Given the description of an element on the screen output the (x, y) to click on. 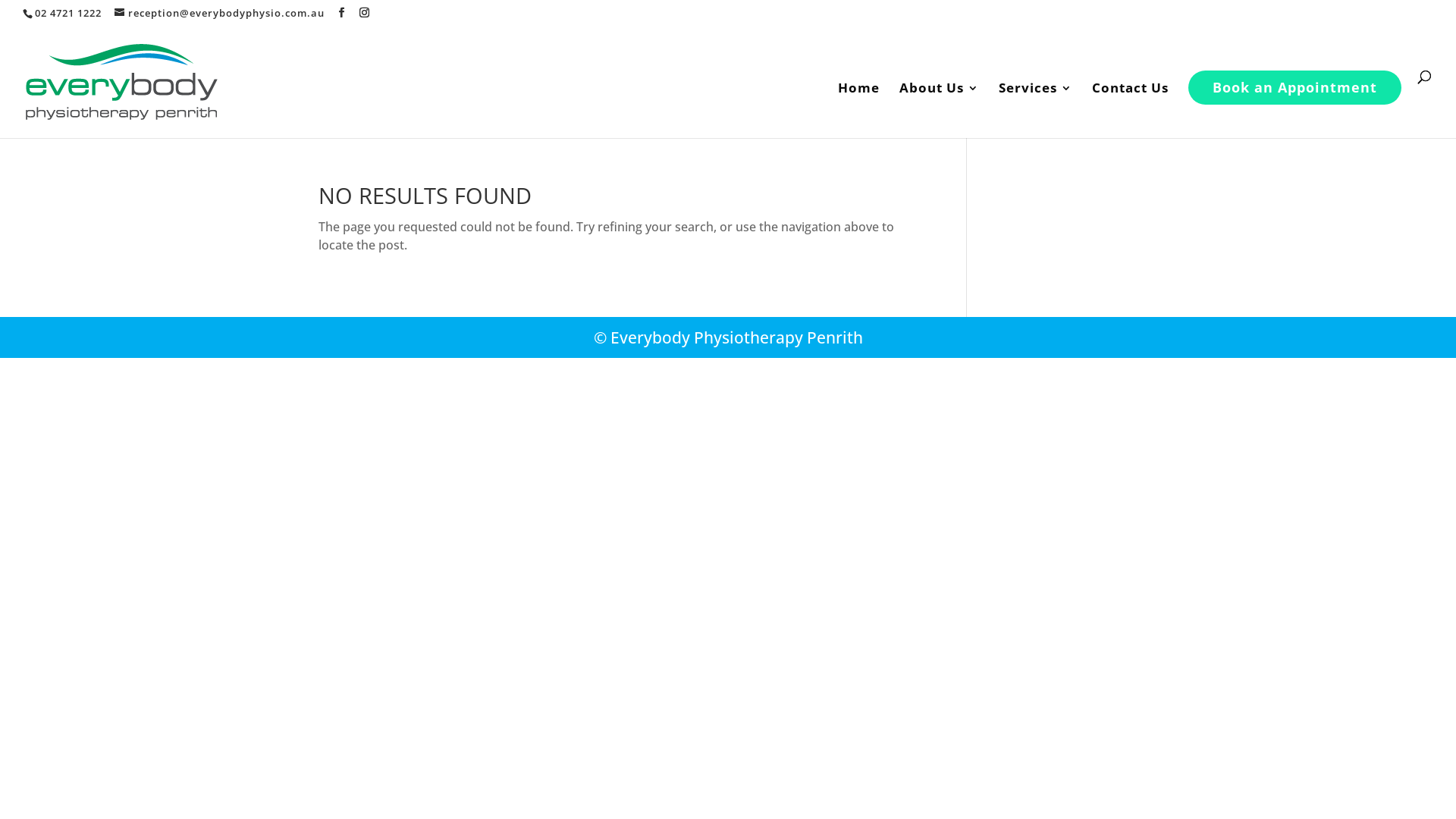
Home Element type: text (858, 109)
reception@everybodyphysio.com.au Element type: text (219, 12)
Contact Us Element type: text (1130, 109)
Book an Appointment Element type: text (1294, 86)
Services Element type: text (1035, 109)
About Us Element type: text (939, 109)
